Given the description of an element on the screen output the (x, y) to click on. 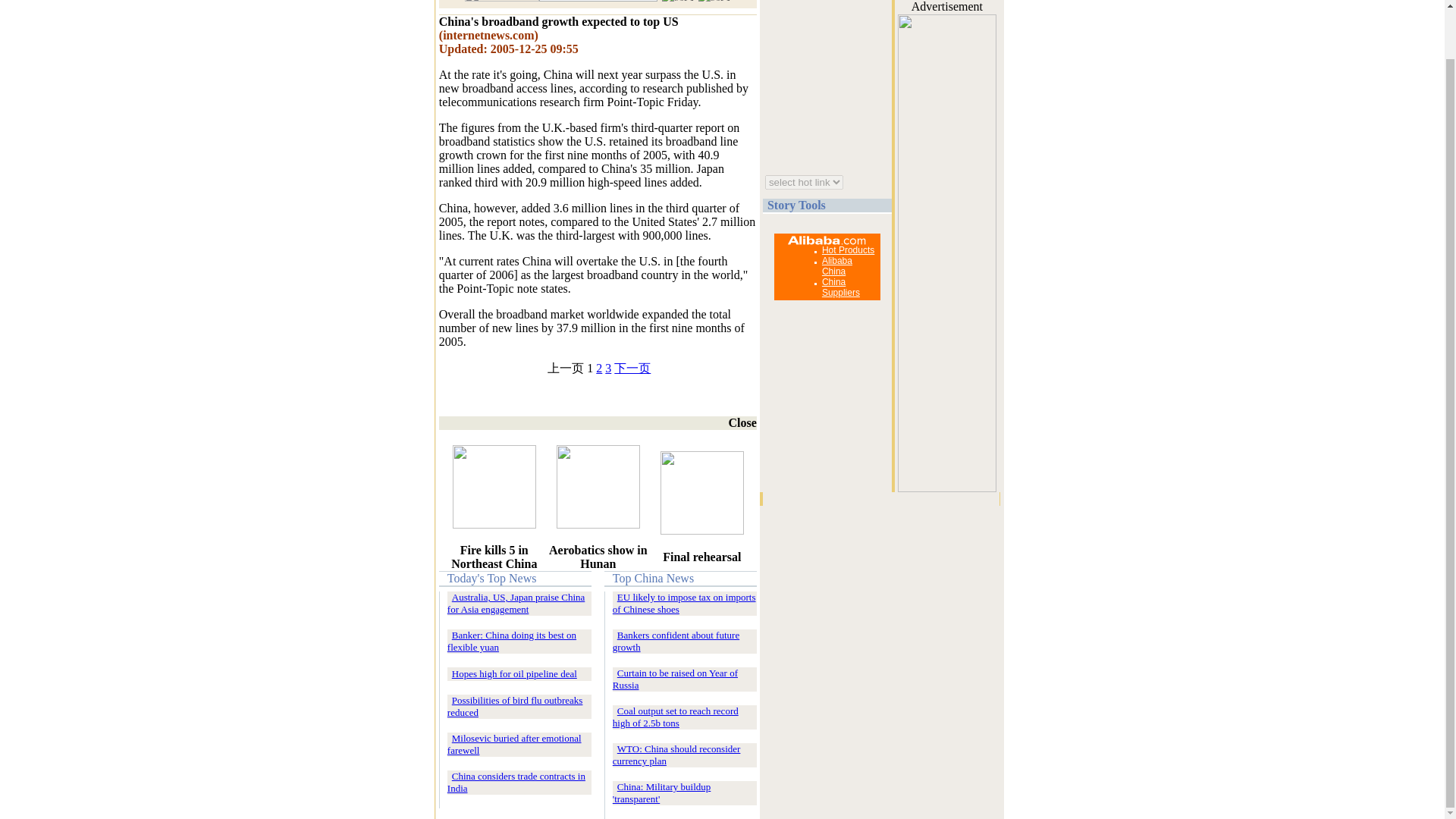
China Suppliers (841, 287)
Milosevic buried after emotional farewell (513, 743)
Alibaba China (836, 265)
Coal output set to reach record high of 2.5b tons (675, 716)
China: Military buildup 'transparent' (661, 792)
Hopes high for oil pipeline deal (513, 673)
Hot Products (848, 249)
Banker: China doing its best on flexible yuan (511, 640)
Close (736, 422)
China considers trade contracts in India (515, 781)
WTO: China should reconsider currency plan (676, 754)
Curtain to be raised on Year of Russia (675, 679)
Hot Products (848, 249)
China Suppliers (841, 287)
Possibilities of bird flu outbreaks reduced (514, 706)
